Given the description of an element on the screen output the (x, y) to click on. 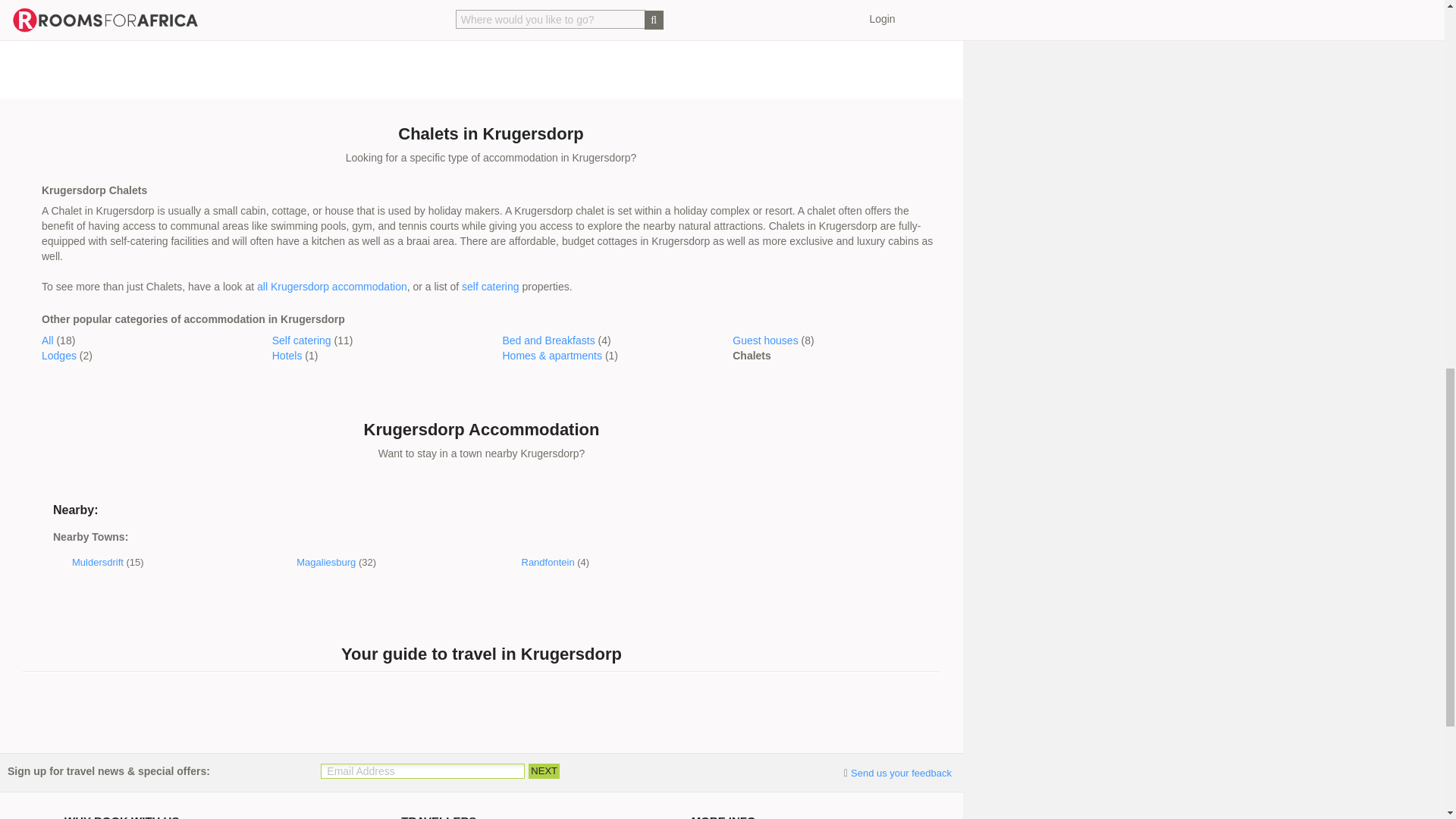
Email Address (422, 770)
Next (543, 770)
Email Address (422, 770)
